Given the description of an element on the screen output the (x, y) to click on. 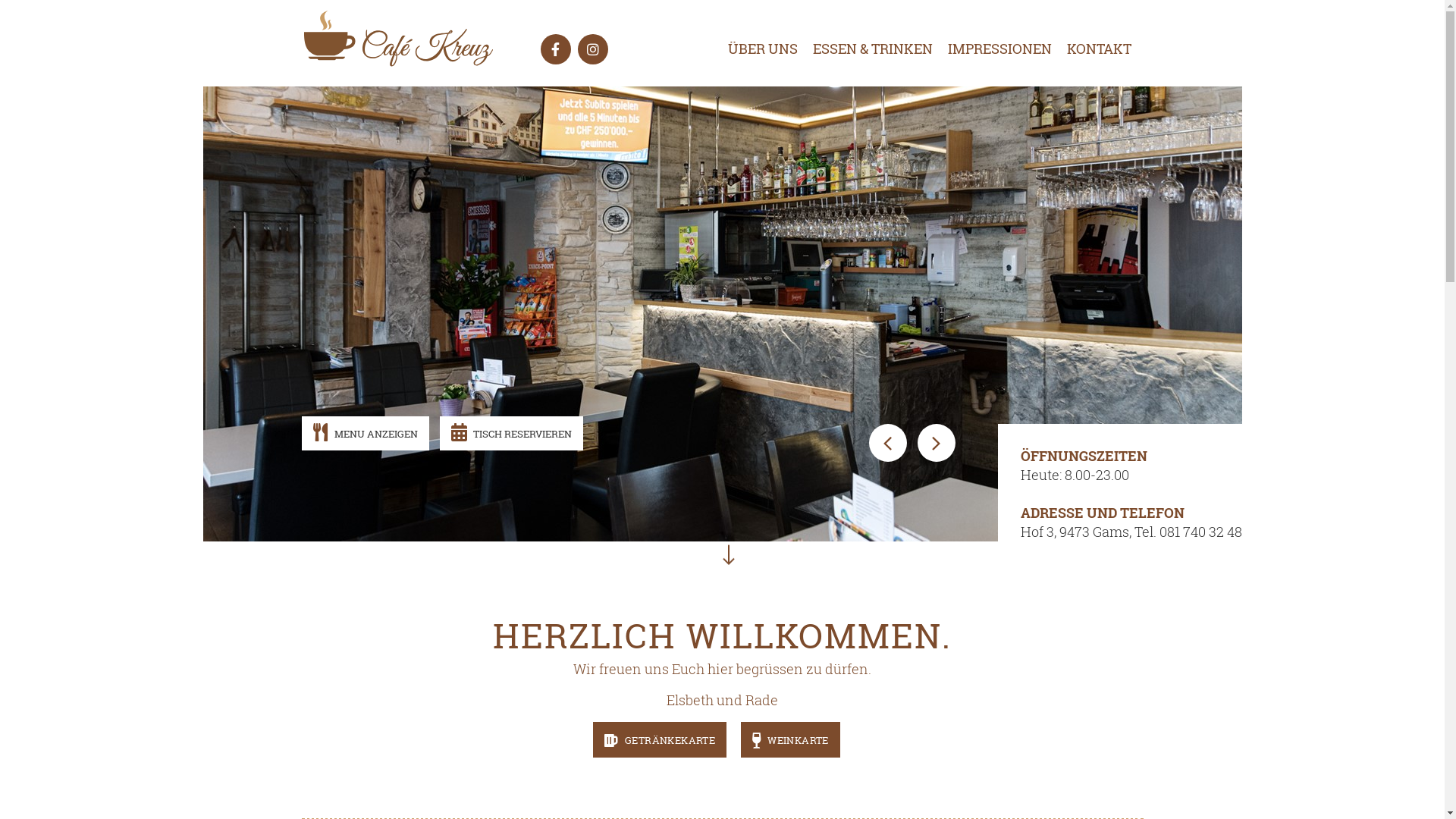
Cafe Kreuz |  Element type: hover (398, 38)
KONTAKT Element type: text (1090, 48)
WEINKARTE Element type: text (789, 739)
ESSEN & TRINKEN Element type: text (864, 48)
TISCH RESERVIEREN Element type: text (511, 433)
IMPRESSIONEN Element type: text (991, 48)
MENU ANZEIGEN Element type: text (365, 433)
Previous Element type: text (887, 442)
Next Element type: text (936, 442)
